Given the description of an element on the screen output the (x, y) to click on. 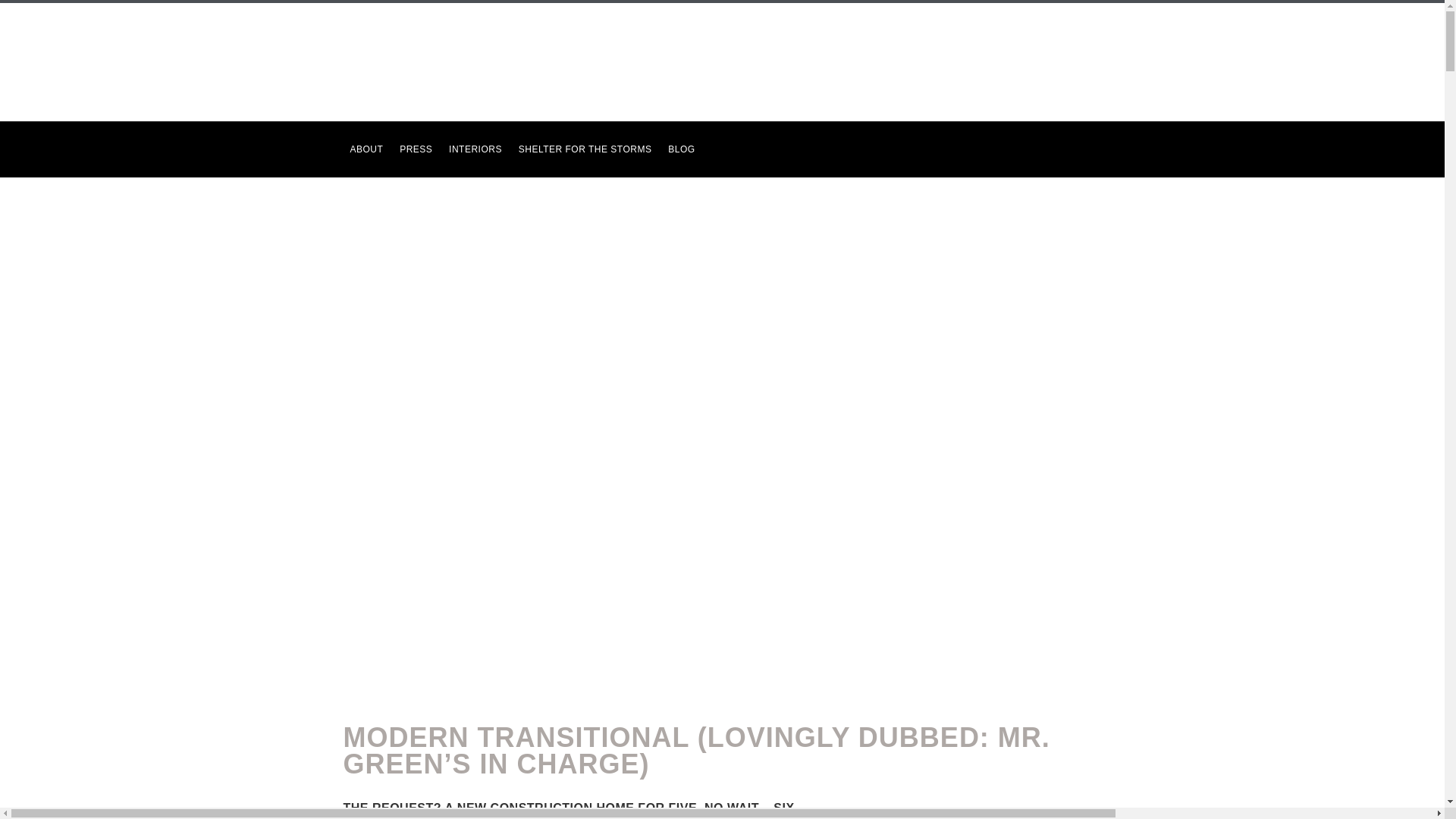
INTERIORS (474, 142)
SHELTER FOR THE STORMS (584, 142)
